Given the description of an element on the screen output the (x, y) to click on. 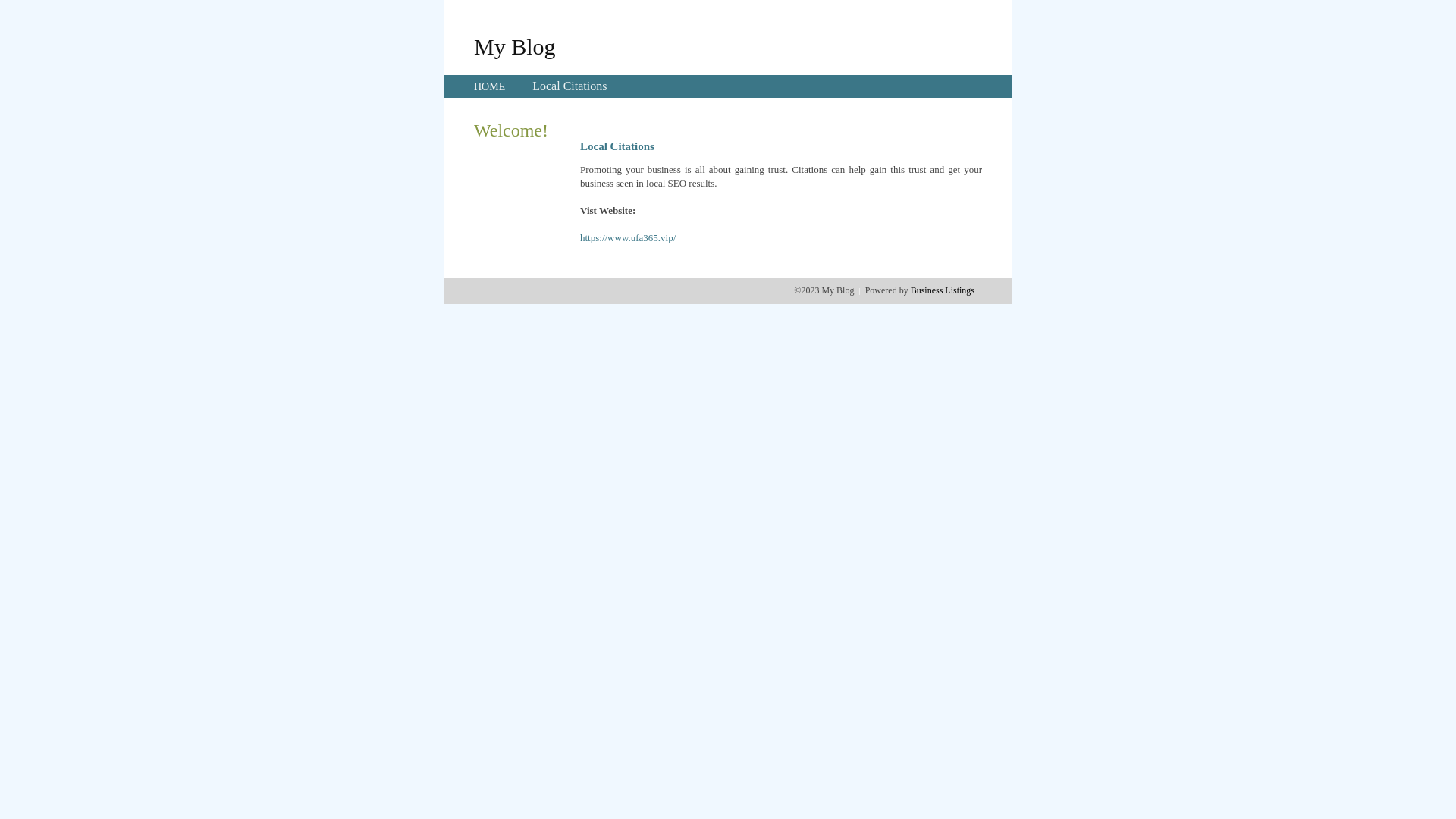
My Blog Element type: text (514, 46)
HOME Element type: text (489, 86)
https://www.ufa365.vip/ Element type: text (627, 237)
Local Citations Element type: text (569, 85)
Business Listings Element type: text (942, 290)
